Given the description of an element on the screen output the (x, y) to click on. 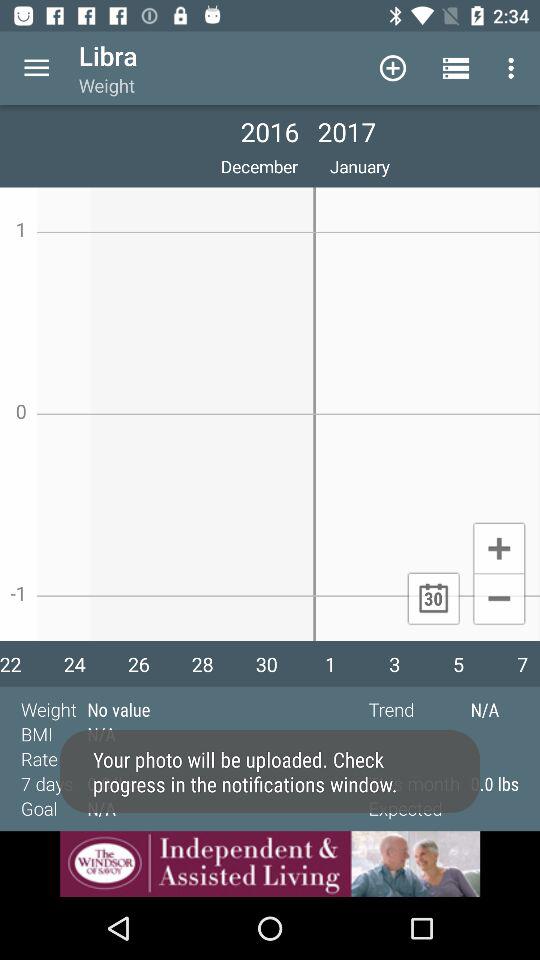
open setting (36, 68)
